Given the description of an element on the screen output the (x, y) to click on. 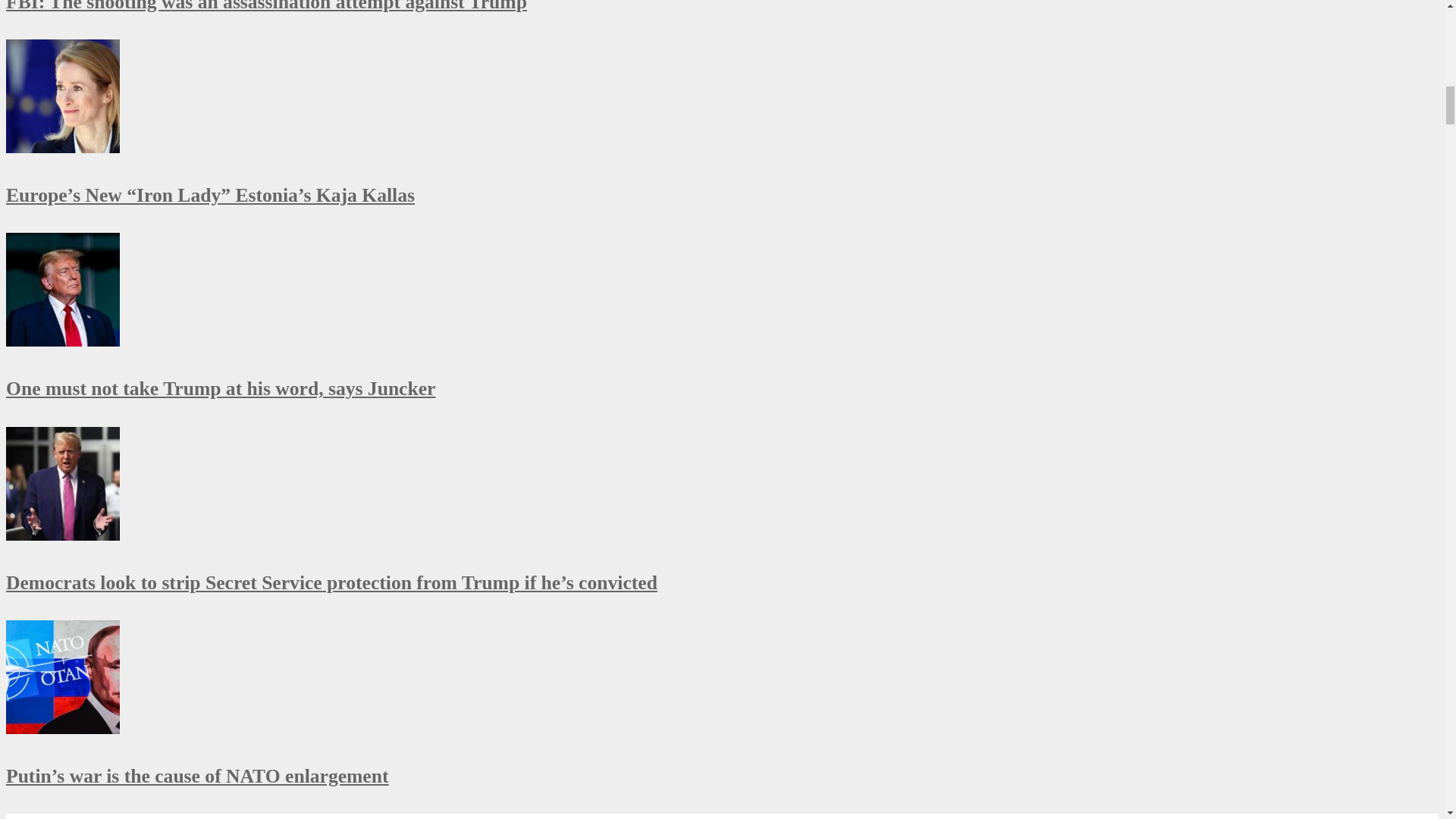
One must not take Trump at his word, says Juncker (62, 340)
